Given the description of an element on the screen output the (x, y) to click on. 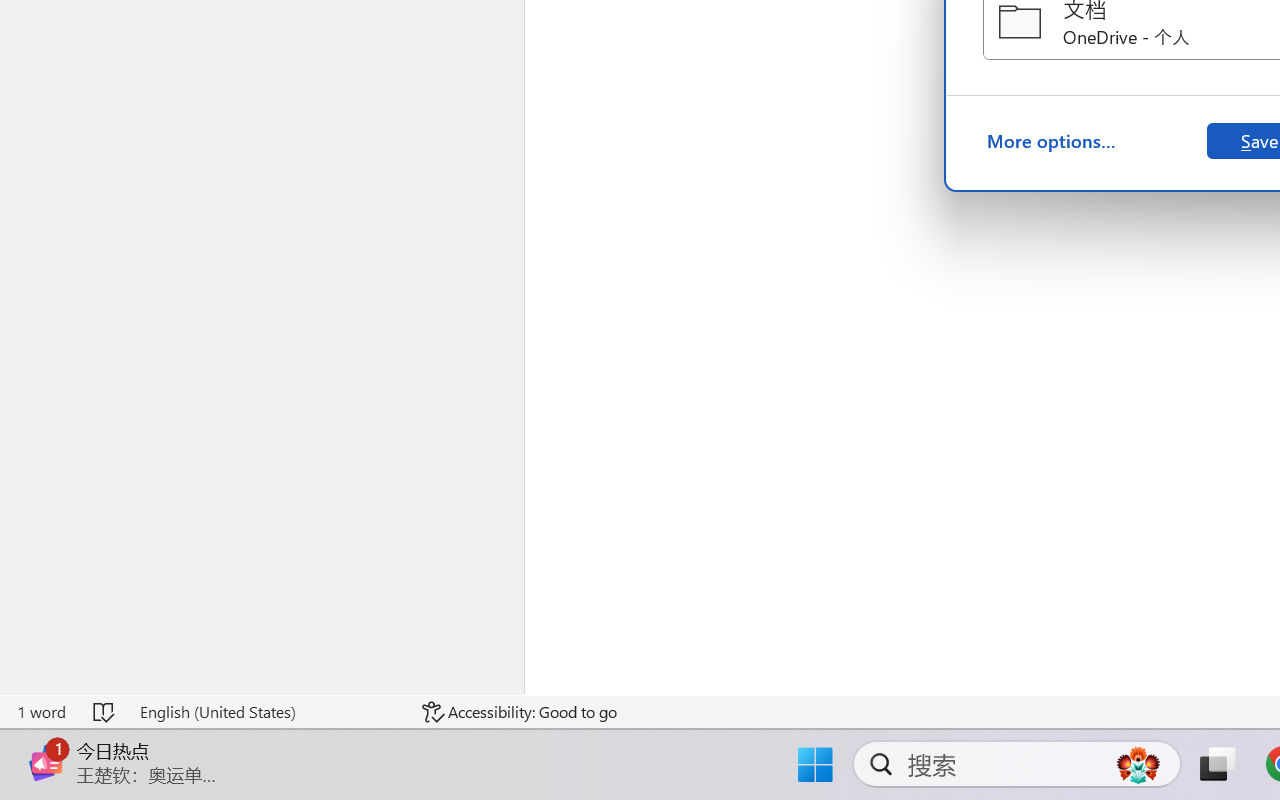
AutomationID: DynamicSearchBoxGleamImage (1138, 764)
Spelling and Grammar Check No Errors (105, 712)
Language English (United States) (267, 712)
Class: Image (46, 762)
Word Count 1 word (41, 712)
Accessibility Checker Accessibility: Good to go (519, 712)
